Given the description of an element on the screen output the (x, y) to click on. 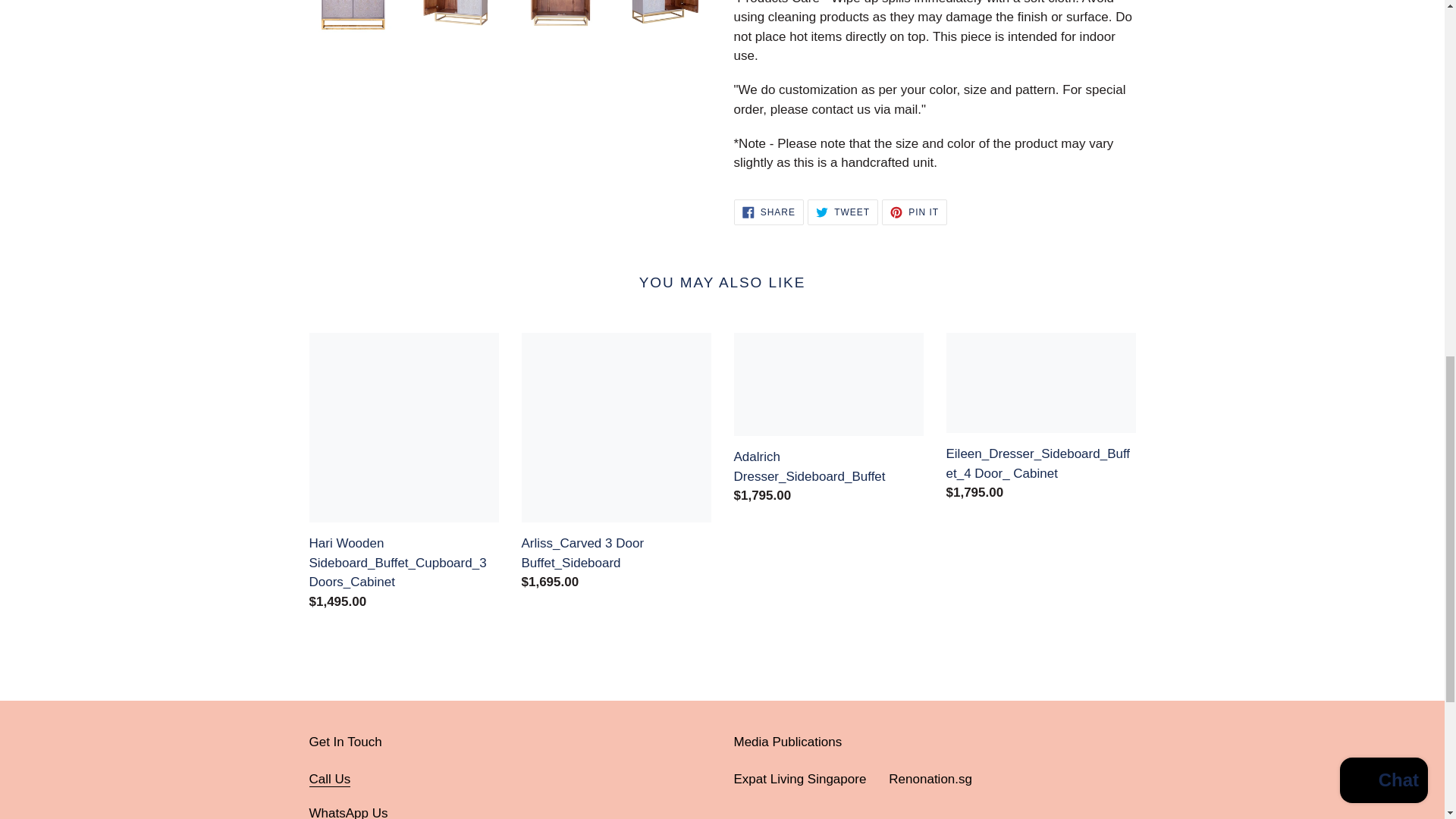
tel:6594521834 (914, 212)
